Given the description of an element on the screen output the (x, y) to click on. 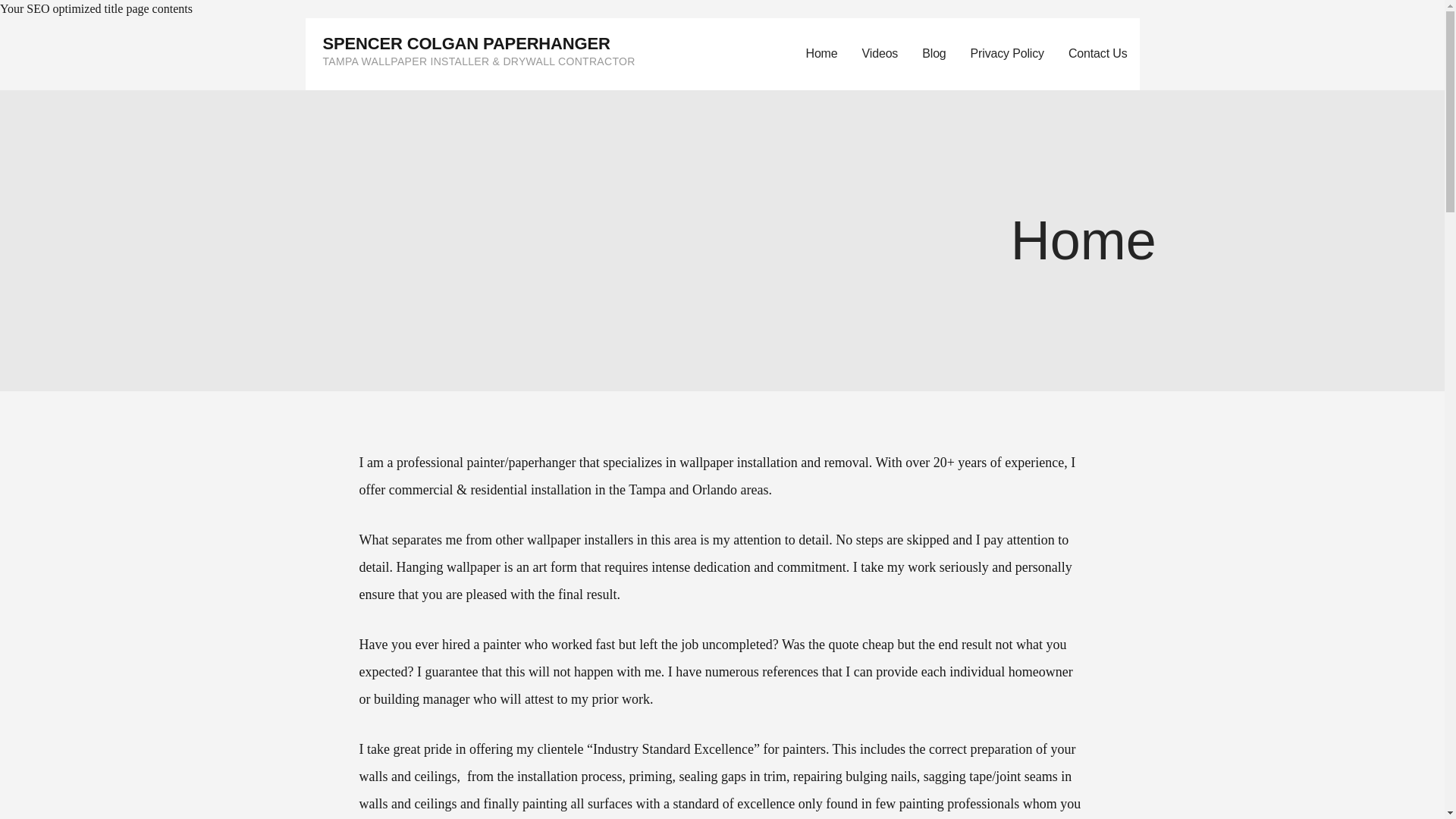
Contact Us (1098, 54)
SPENCER COLGAN PAPERHANGER (466, 43)
Privacy Policy (1007, 54)
